Given the description of an element on the screen output the (x, y) to click on. 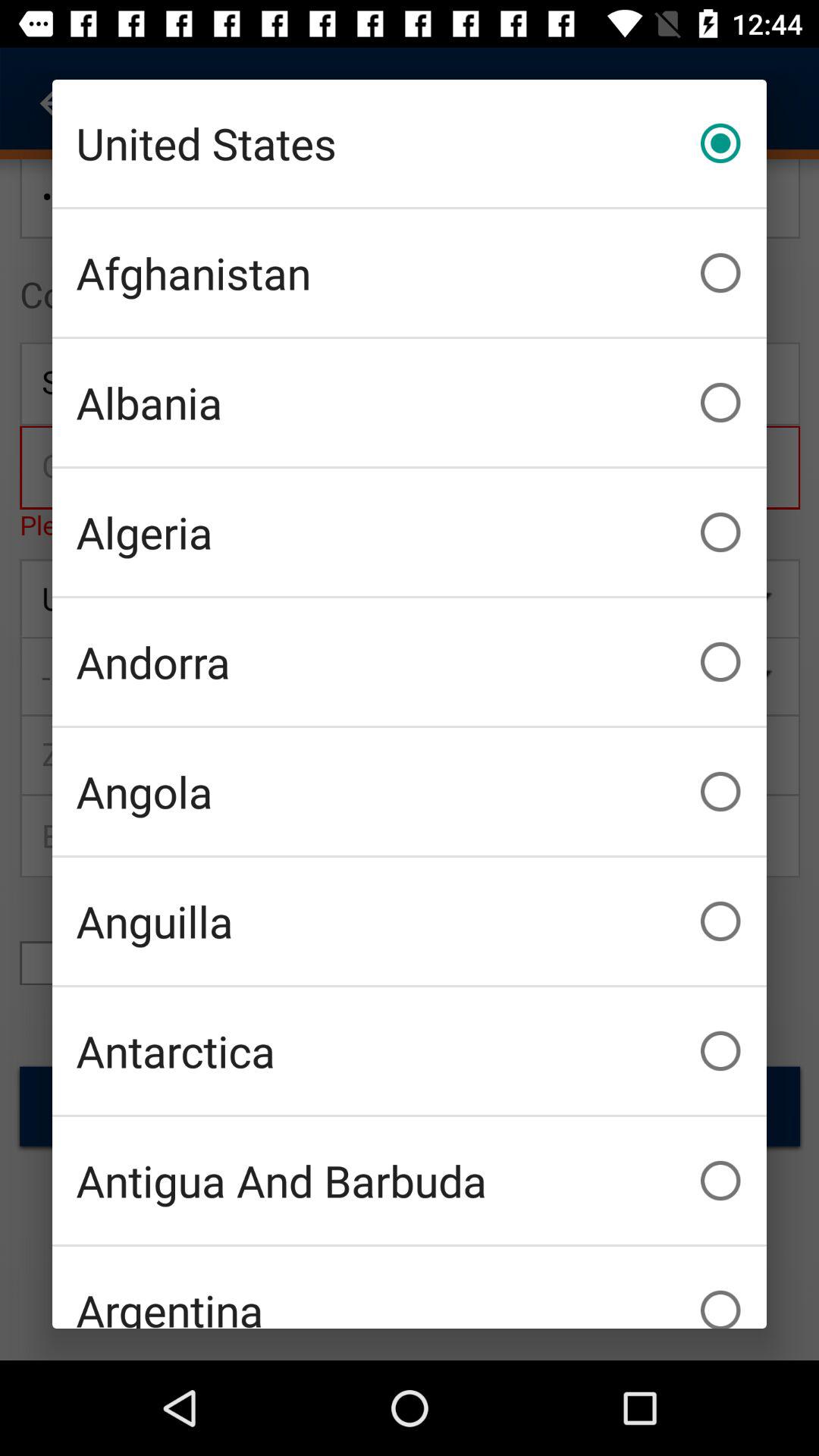
turn on the icon above afghanistan (409, 143)
